Given the description of an element on the screen output the (x, y) to click on. 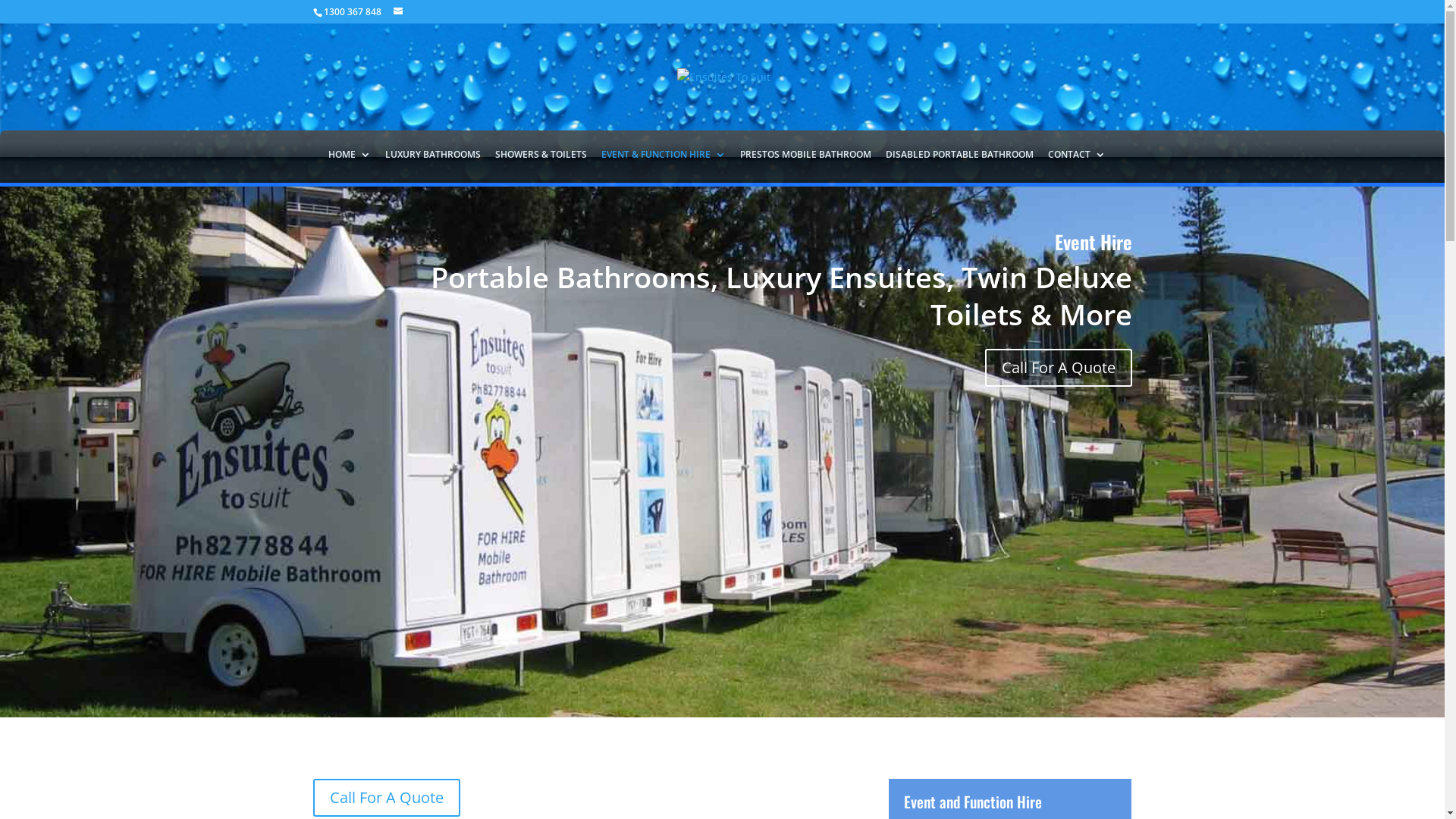
CONTACT Element type: text (1076, 163)
1300 367 848 Element type: text (351, 11)
HOME Element type: text (348, 163)
Call For A Quote Element type: text (385, 797)
PRESTOS MOBILE BATHROOM Element type: text (805, 163)
DISABLED PORTABLE BATHROOM Element type: text (959, 163)
Call For A Quote Element type: text (1057, 367)
SHOWERS & TOILETS Element type: text (540, 163)
EVENT & FUNCTION HIRE Element type: text (662, 163)
LUXURY BATHROOMS Element type: text (432, 163)
